Given the description of an element on the screen output the (x, y) to click on. 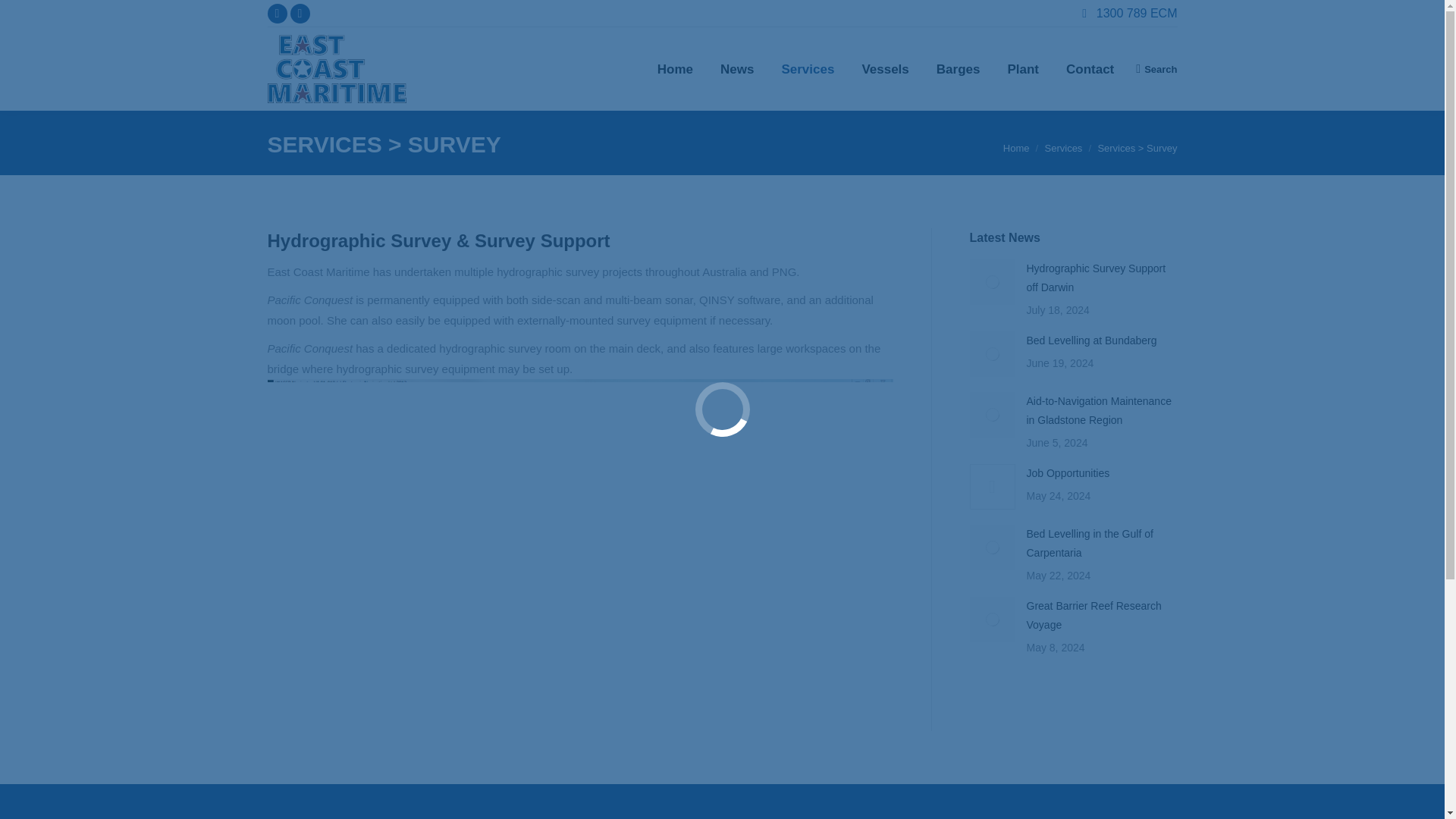
Search (1155, 68)
Services (807, 68)
Contact (1089, 68)
Facebook page opens in new window (276, 13)
Barges (958, 68)
Facebook page opens in new window (276, 13)
Go! (24, 15)
Vessels (885, 68)
Instagram page opens in new window (298, 13)
Instagram page opens in new window (298, 13)
